Given the description of an element on the screen output the (x, y) to click on. 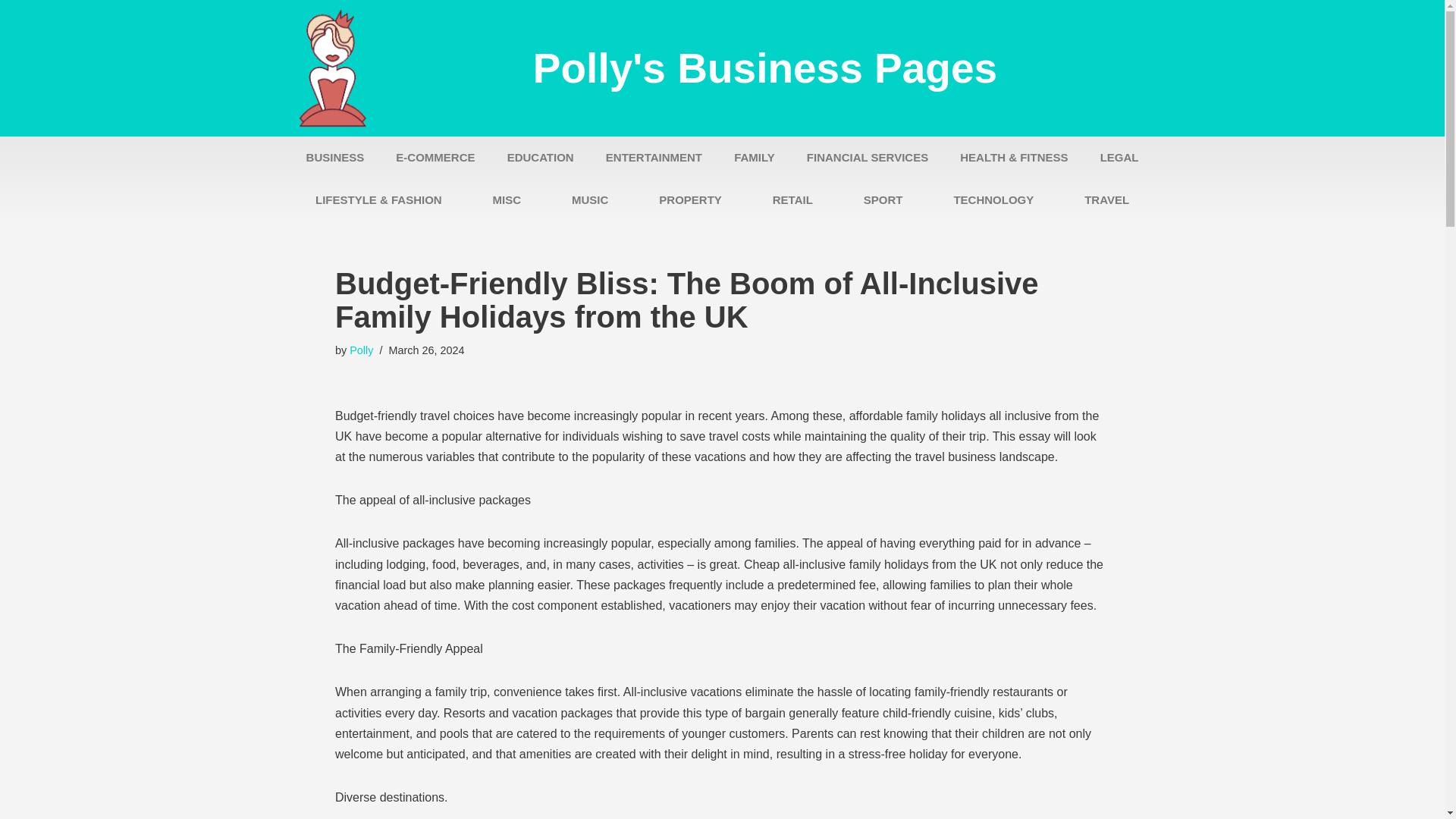
Posts by Polly (360, 349)
RETAIL (792, 200)
E-COMMERCE (435, 157)
MISC (506, 200)
Polly's Business Pages (764, 68)
EDUCATION (540, 157)
LEGAL (1119, 157)
ENTERTAINMENT (653, 157)
SPORT (883, 200)
BUSINESS (334, 157)
